Given the description of an element on the screen output the (x, y) to click on. 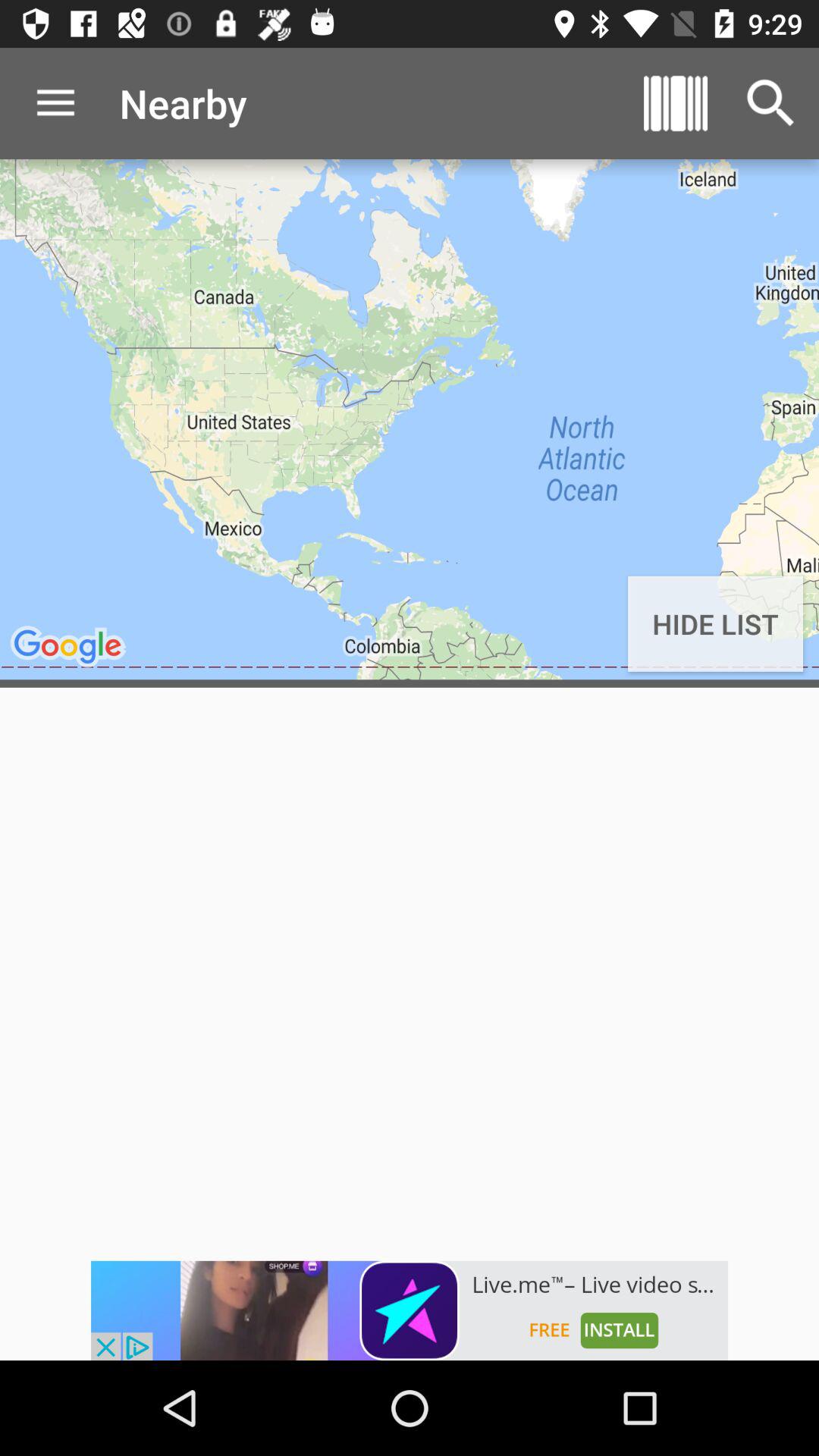
click the advertisement (409, 1310)
